Given the description of an element on the screen output the (x, y) to click on. 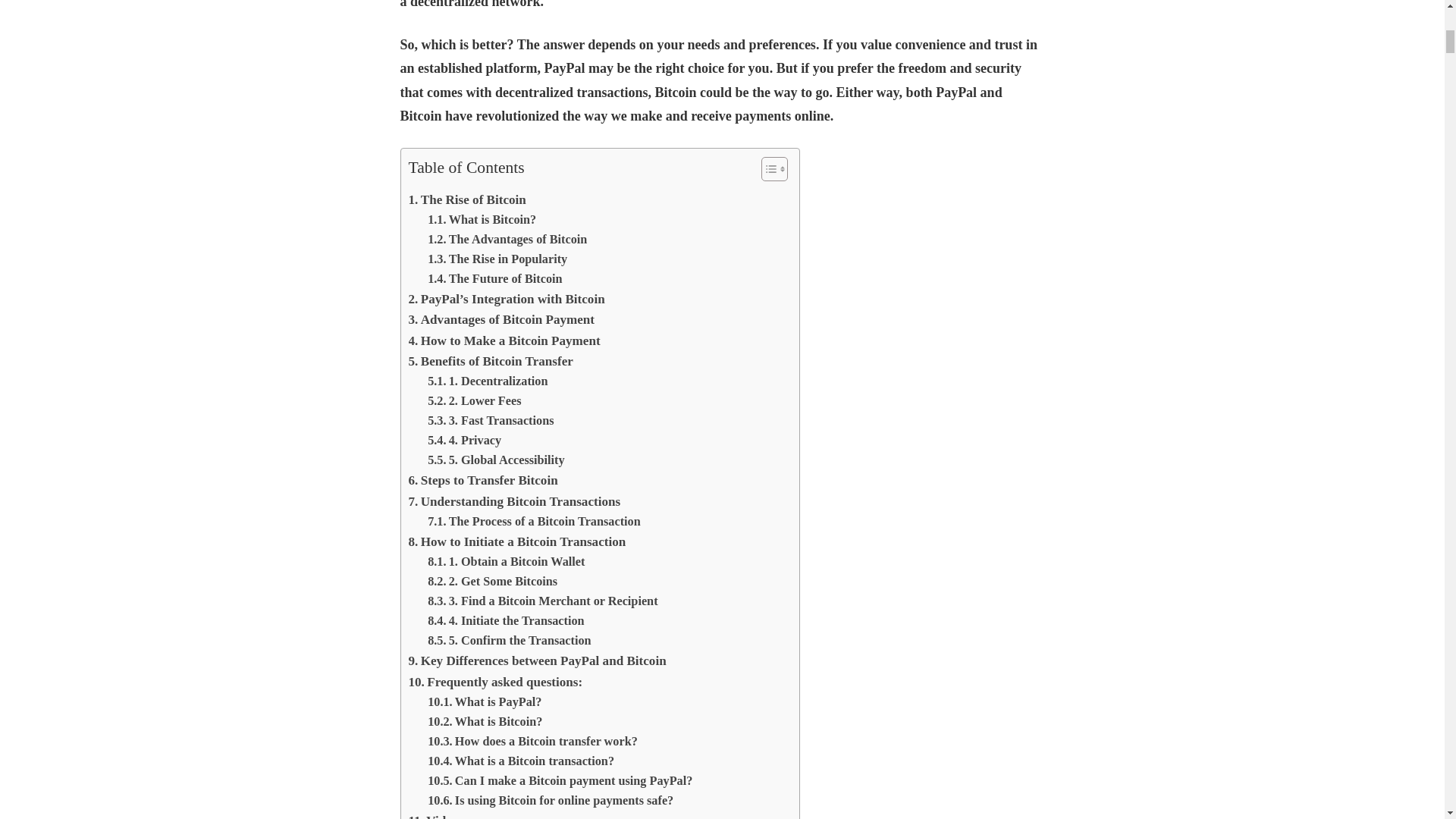
2. Get Some Bitcoins (492, 581)
The Rise of Bitcoin (466, 199)
Advantages of Bitcoin Payment (500, 319)
What is Bitcoin? (481, 219)
Advantages of Bitcoin Payment (500, 319)
Understanding Bitcoin Transactions (513, 501)
The Future of Bitcoin (495, 279)
The Rise in Popularity (497, 259)
5. Global Accessibility (496, 460)
What is Bitcoin? (481, 219)
